Given the description of an element on the screen output the (x, y) to click on. 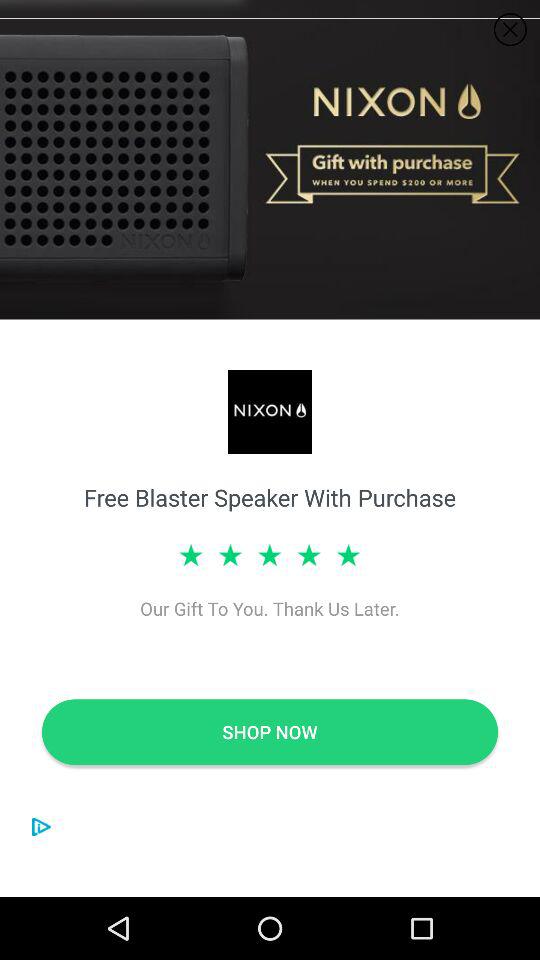
choose the app below the our gift to icon (269, 732)
